Given the description of an element on the screen output the (x, y) to click on. 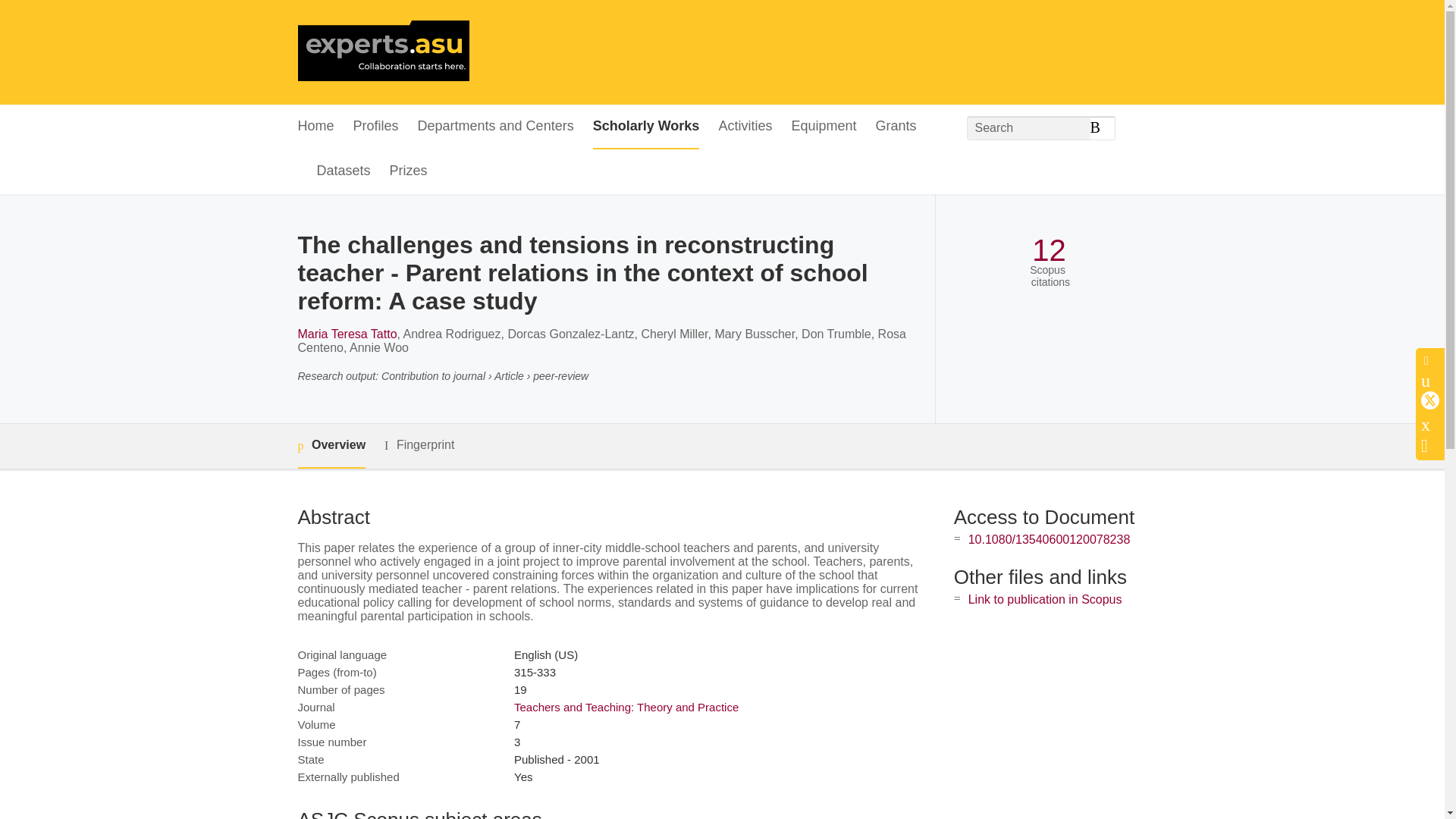
Fingerprint (419, 445)
Overview (331, 446)
Maria Teresa Tatto (346, 333)
Activities (744, 126)
Profiles (375, 126)
Datasets (344, 171)
Equipment (823, 126)
Scholarly Works (646, 126)
Grants (895, 126)
Teachers and Teaching: Theory and Practice (625, 707)
12 (1048, 250)
Link to publication in Scopus (1045, 599)
Arizona State University Home (382, 52)
Departments and Centers (495, 126)
